Given the description of an element on the screen output the (x, y) to click on. 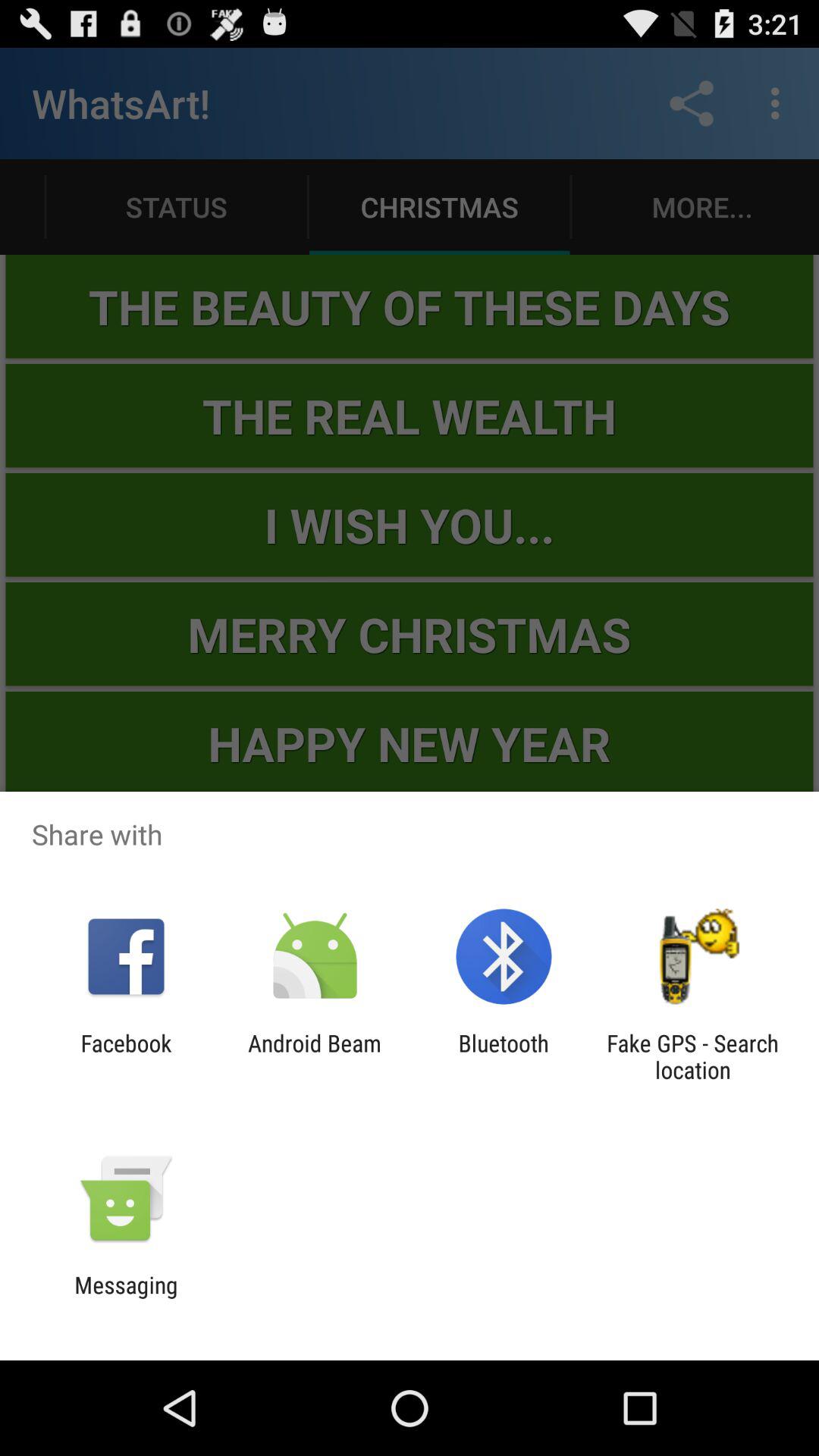
choose the facebook item (125, 1056)
